Given the description of an element on the screen output the (x, y) to click on. 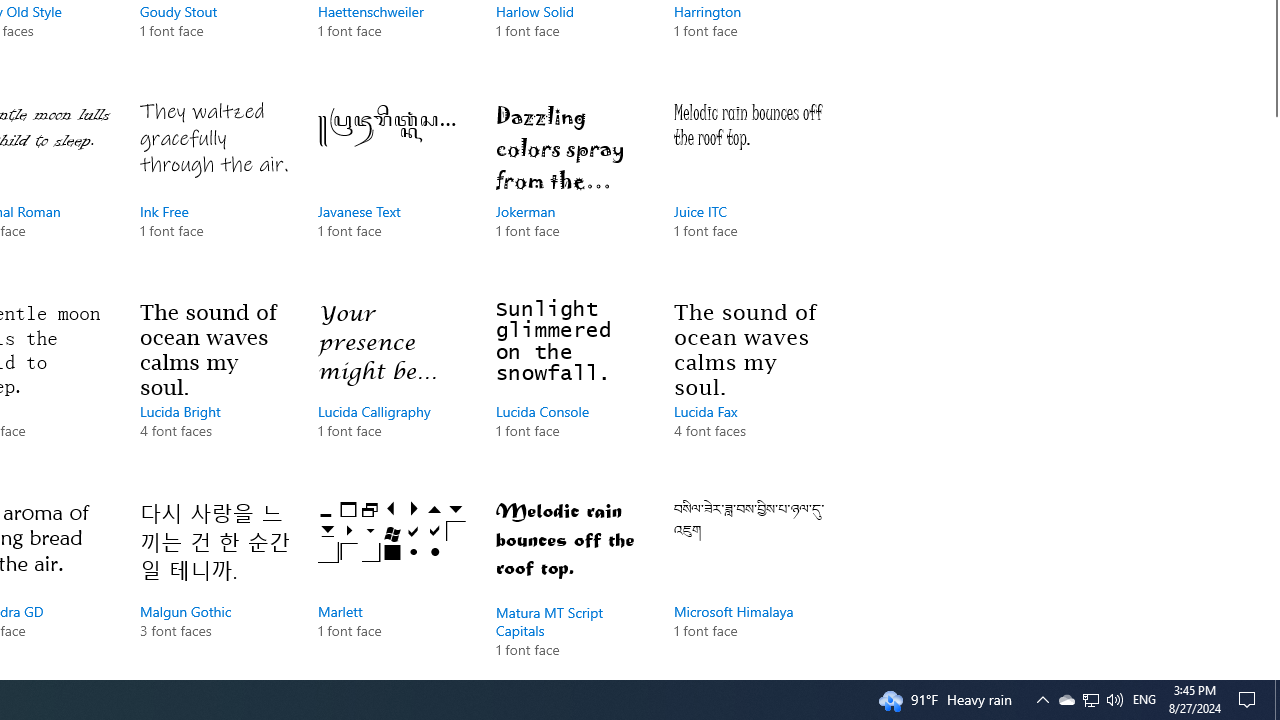
Lucida Fax, 4 font faces (748, 390)
Vertical Small Increase (1272, 671)
Javanese Text, 1 font face (392, 190)
Marlett, 1 font face (392, 584)
Lucida Calligraphy, 1 font face (392, 390)
Juice ITC, 1 font face (748, 190)
Notification Chevron (1066, 699)
Show desktop (1042, 699)
Action Center, No new notifications (1091, 699)
Ink Free, 1 font face (1277, 699)
User Promoted Notification Area (1250, 699)
Tray Input Indicator - English (United States) (214, 190)
